Given the description of an element on the screen output the (x, y) to click on. 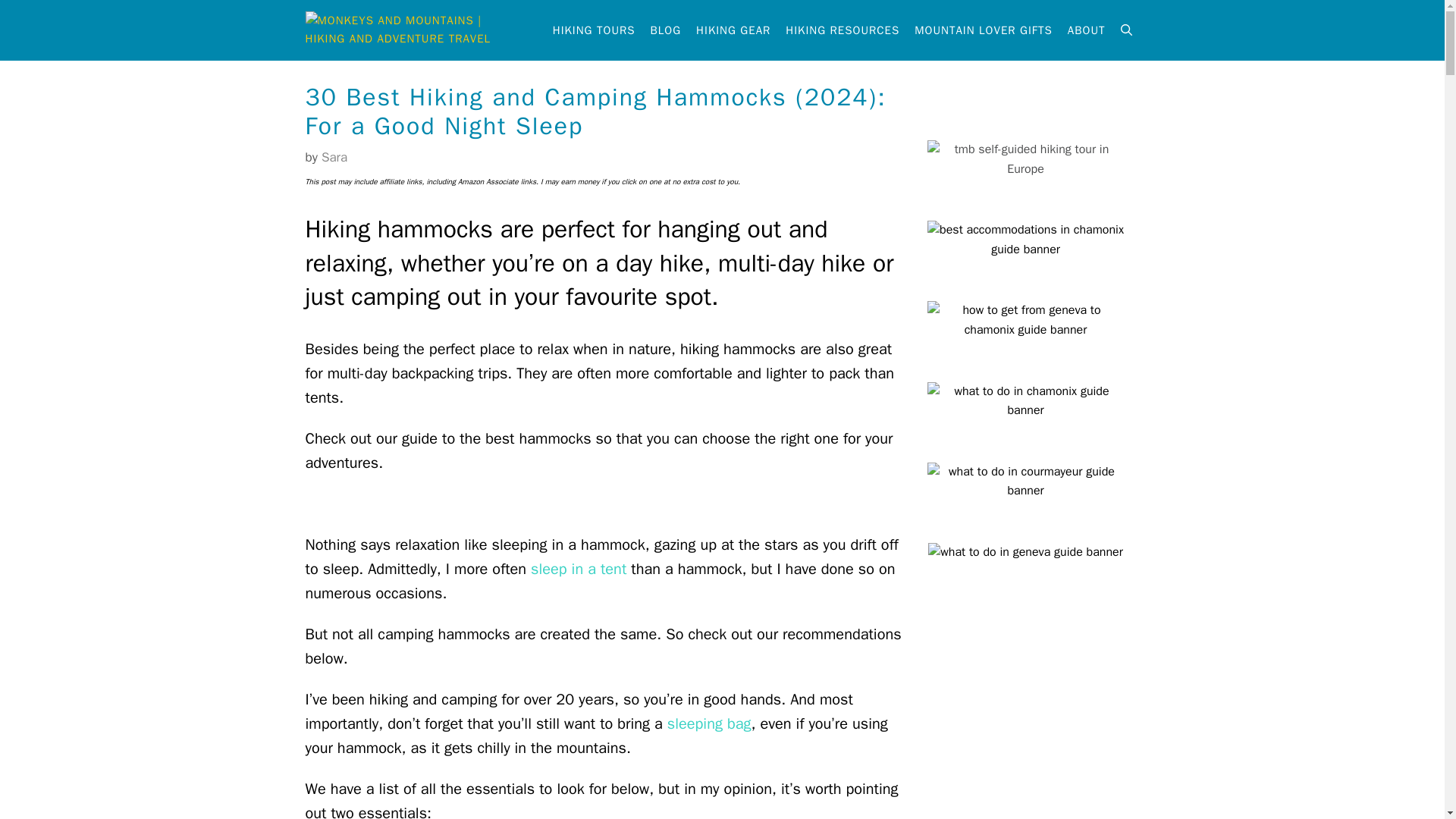
View all posts by Sara (334, 157)
HIKING GEAR (732, 30)
Sara (334, 157)
HIKING RESOURCES (842, 30)
MOUNTAIN LOVER GIFTS (983, 30)
sleep in a tent (578, 568)
sleeping bag (708, 723)
HIKING TOURS (593, 30)
